Given the description of an element on the screen output the (x, y) to click on. 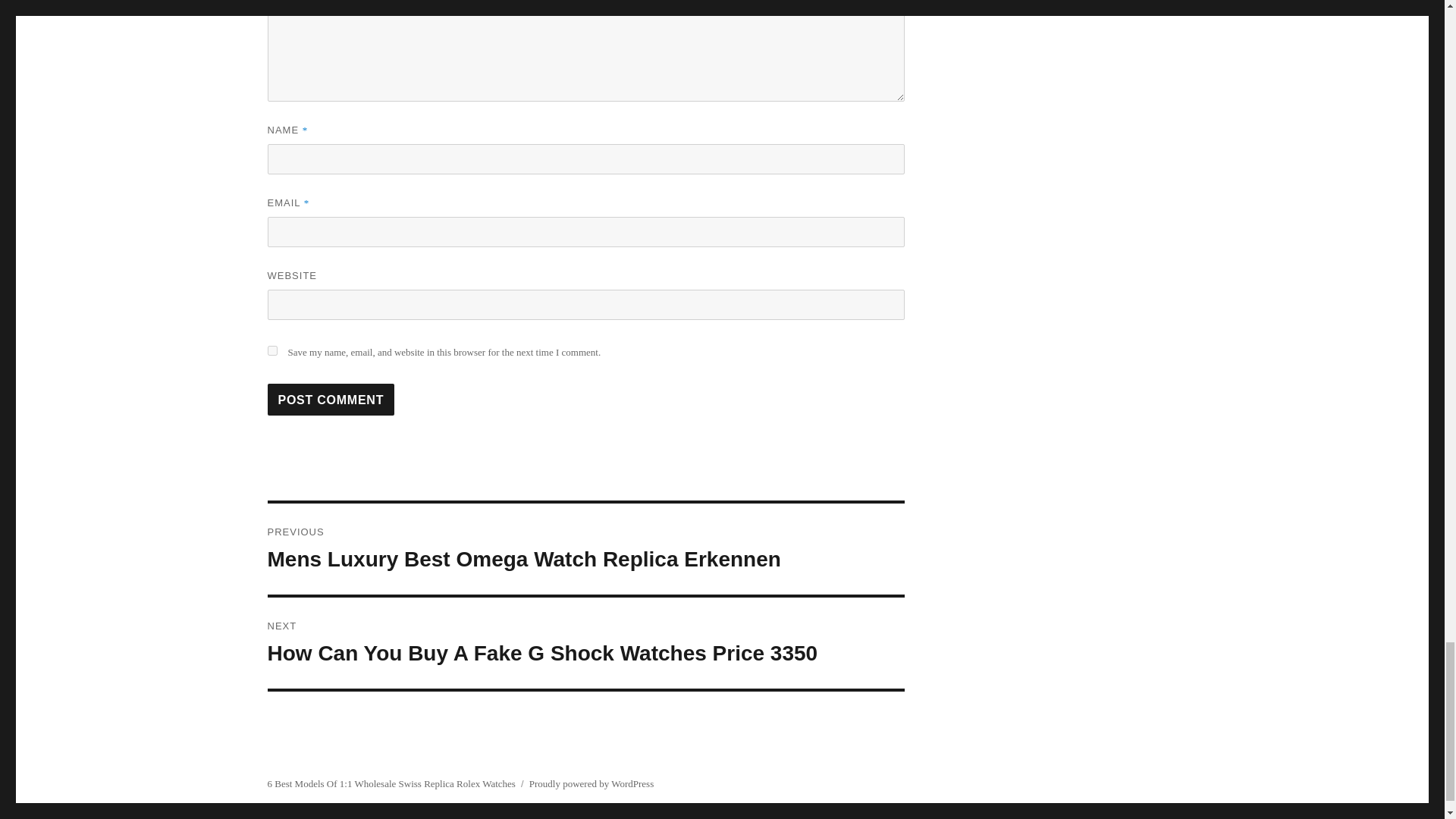
Post Comment (330, 399)
Post Comment (330, 399)
yes (271, 350)
